Given the description of an element on the screen output the (x, y) to click on. 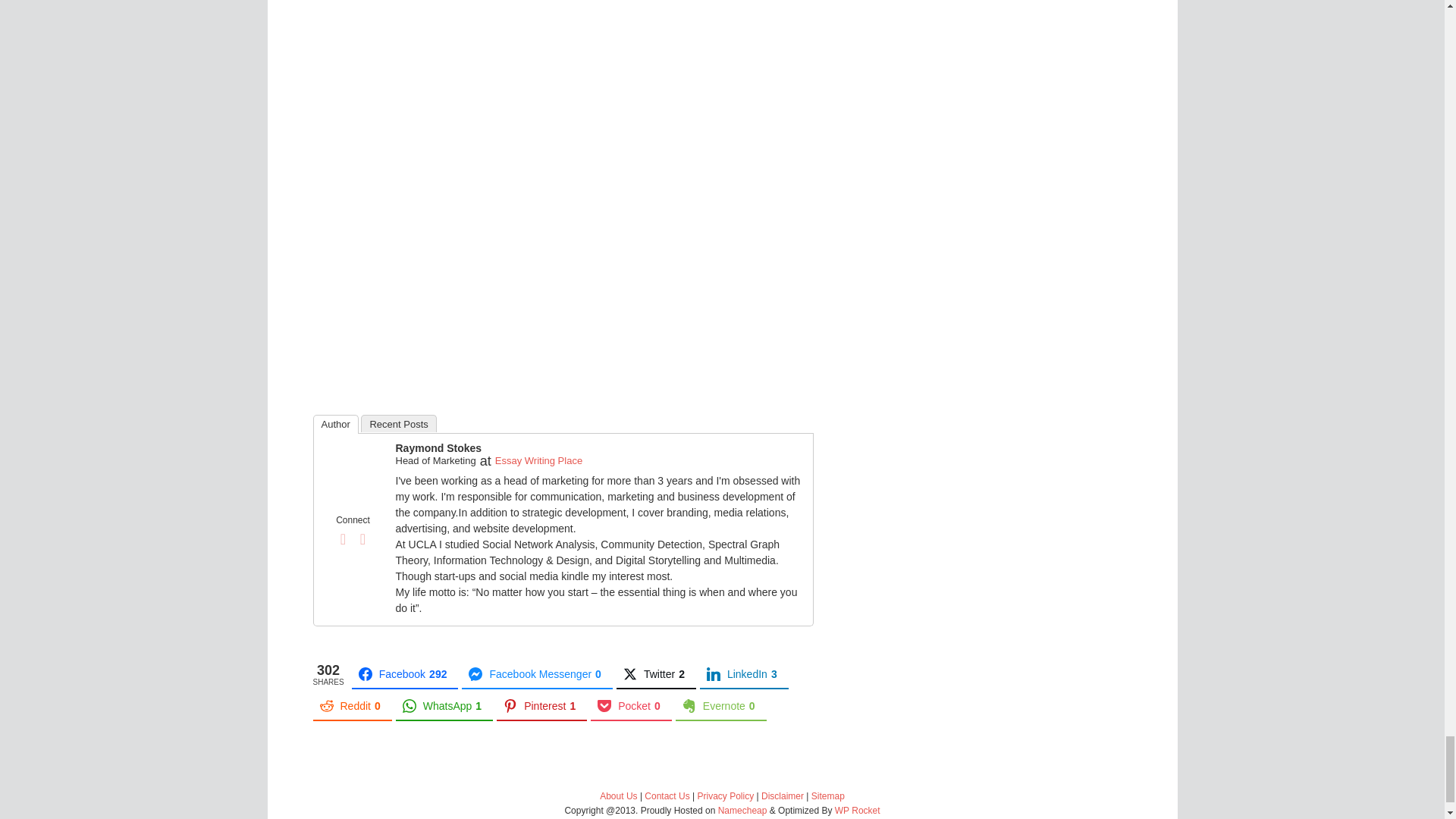
Facebook (342, 538)
Recent Posts (398, 423)
Essay Writing Place (538, 460)
17 Things That Drive Us Crazy About Your Website 11 (353, 473)
Author (335, 424)
Twitter (362, 538)
Raymond Stokes (353, 498)
Raymond Stokes (438, 448)
